Given the description of an element on the screen output the (x, y) to click on. 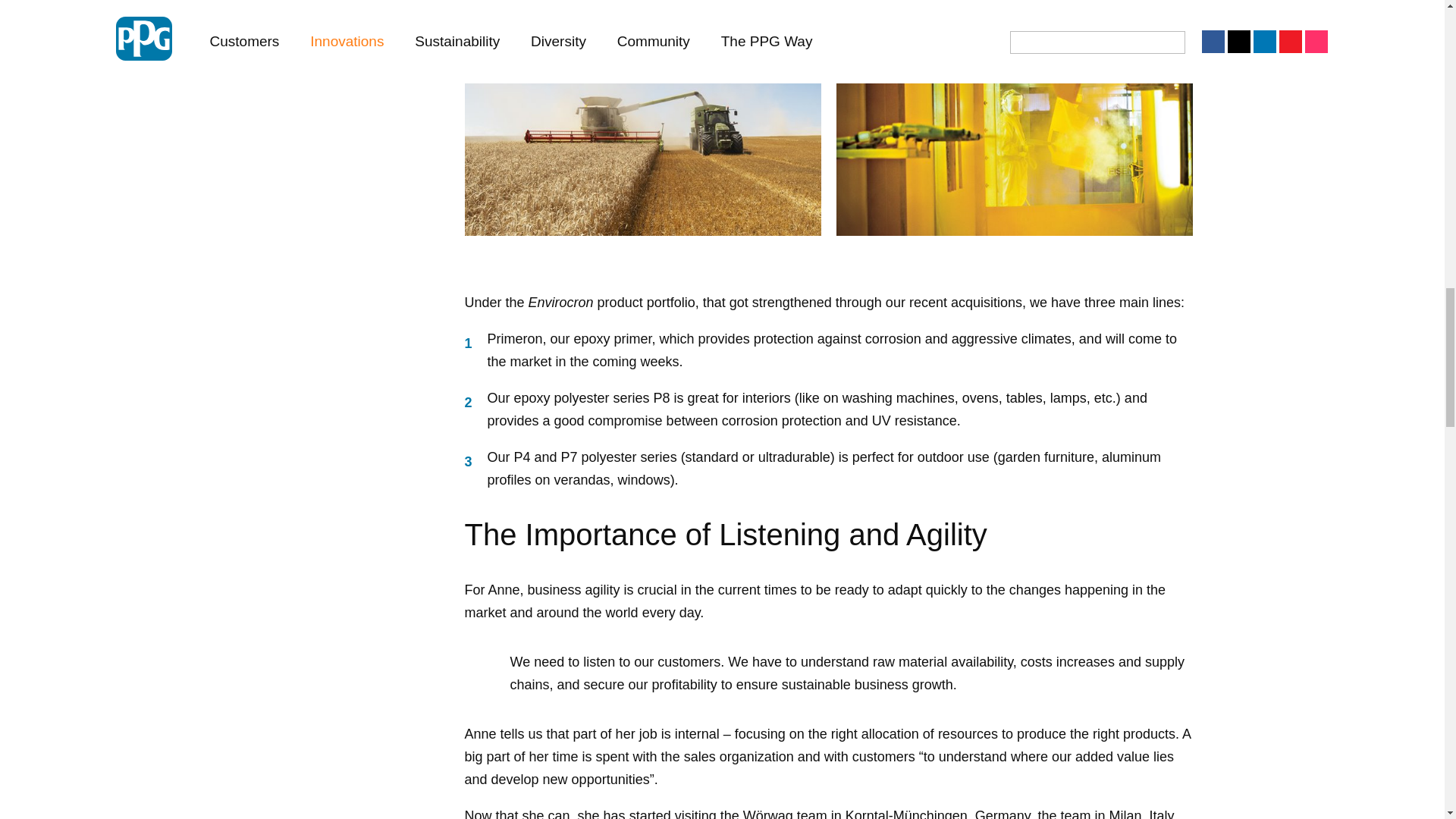
ppg-envirocron-ultrax-powder-coatings-application.jpg (1013, 121)
